Given the description of an element on the screen output the (x, y) to click on. 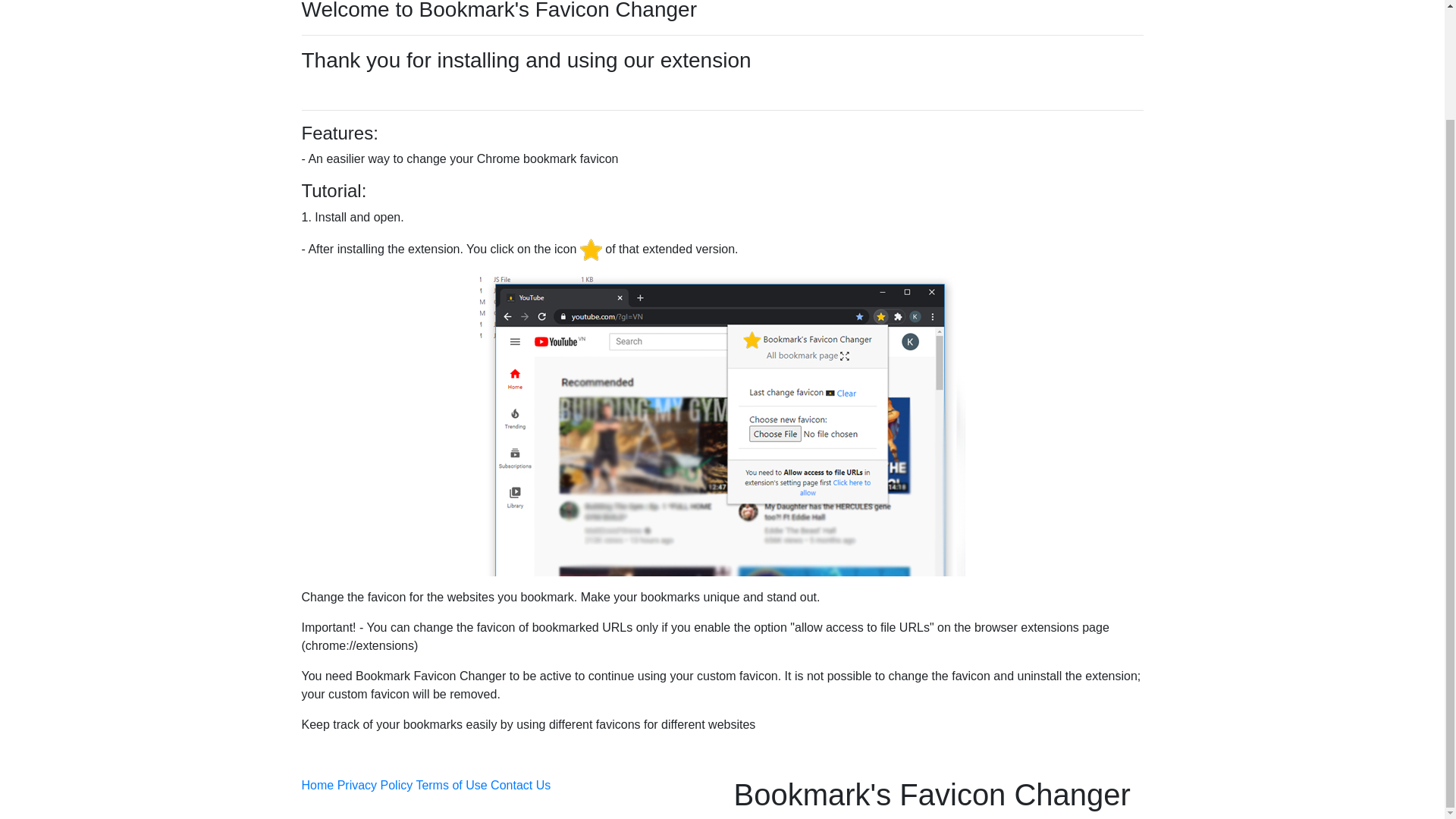
Terms of Use (450, 784)
Privacy Policy (375, 784)
Contact Us (520, 784)
Home (317, 784)
